Given the description of an element on the screen output the (x, y) to click on. 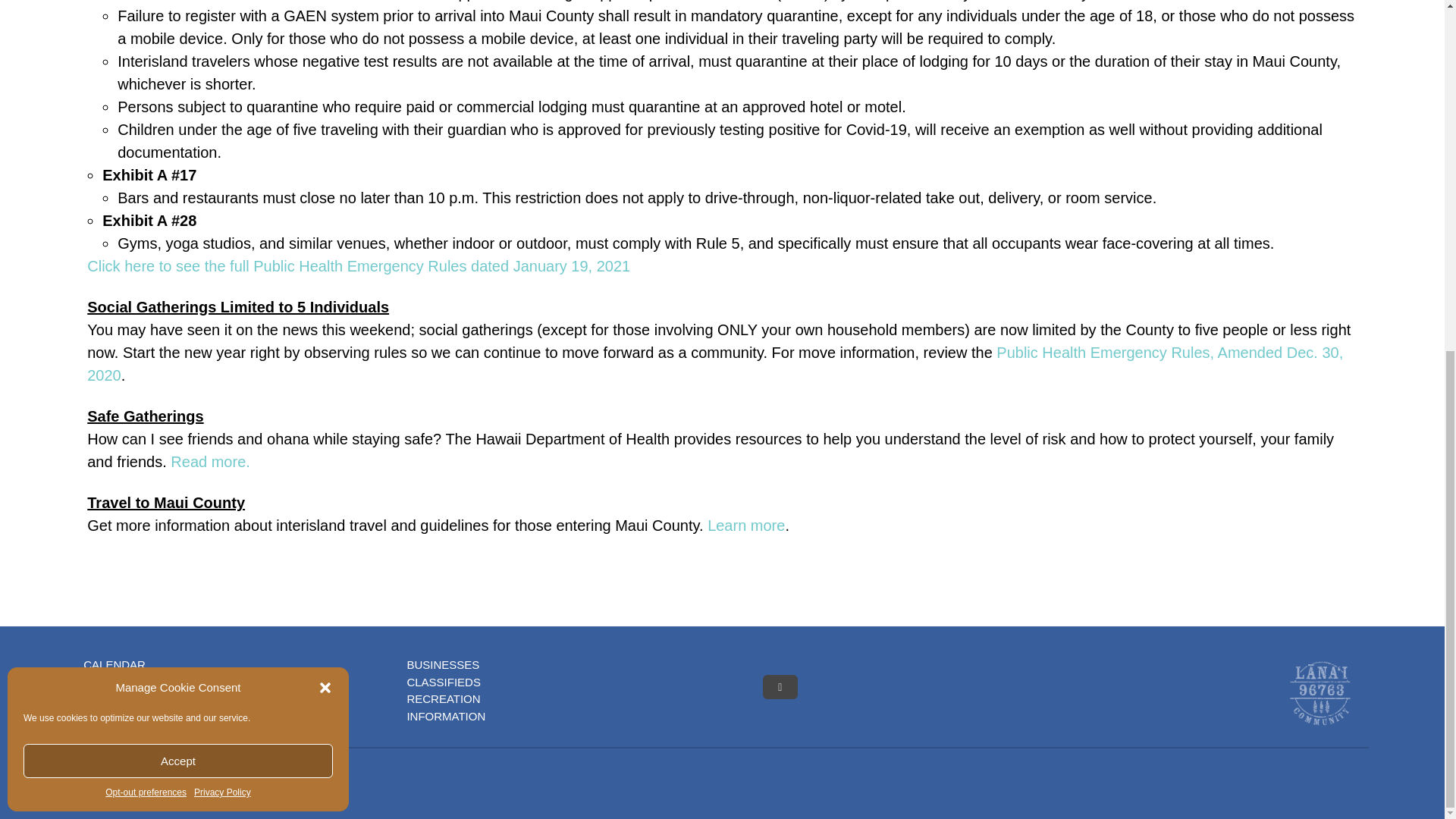
Opt-out preferences (145, 182)
Privacy Policy (221, 182)
Accept (178, 150)
